Given the description of an element on the screen output the (x, y) to click on. 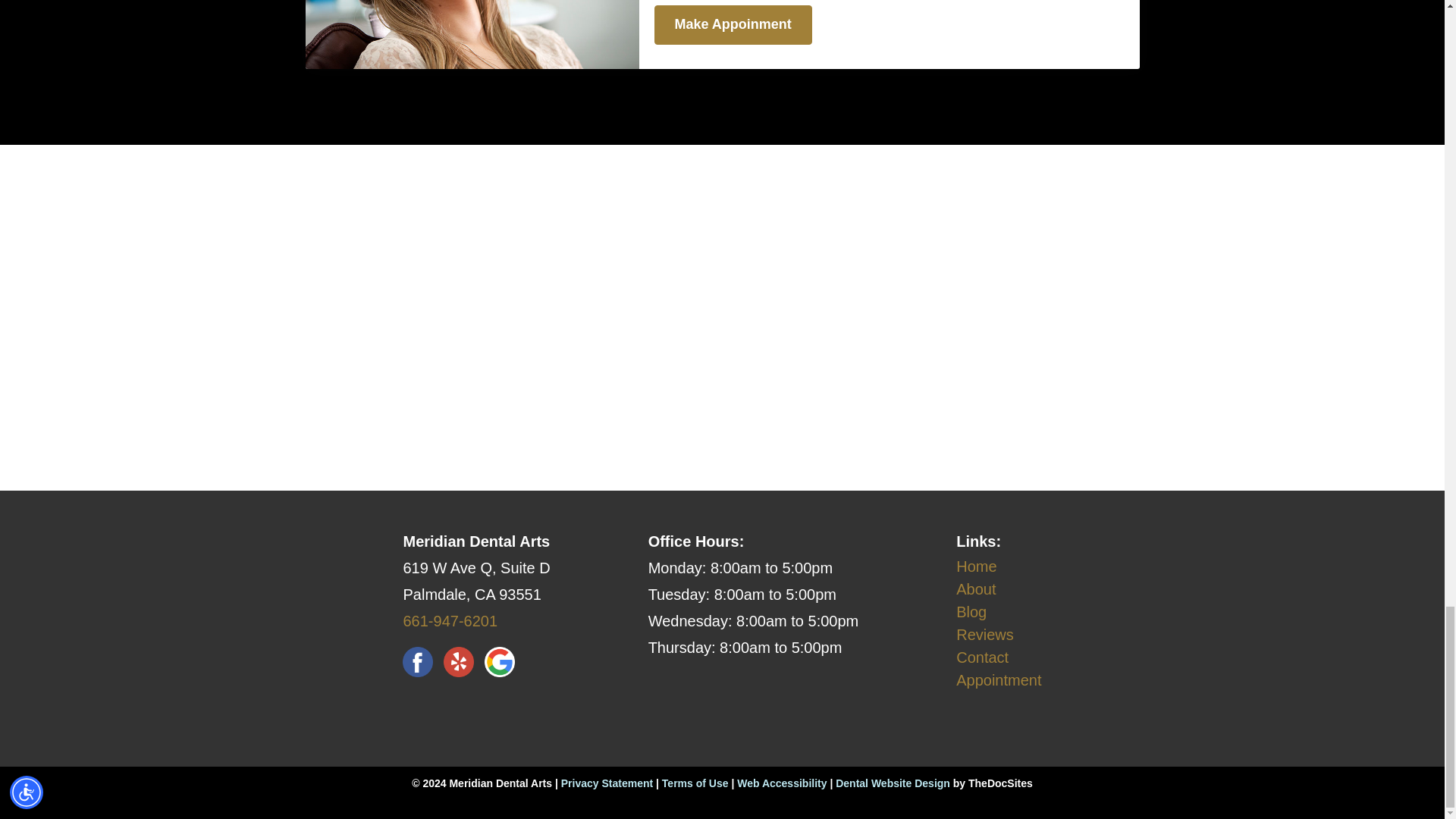
Home (975, 565)
Make Appoinment (731, 24)
Blog (971, 611)
661-947-6201 (450, 620)
About (975, 588)
